Given the description of an element on the screen output the (x, y) to click on. 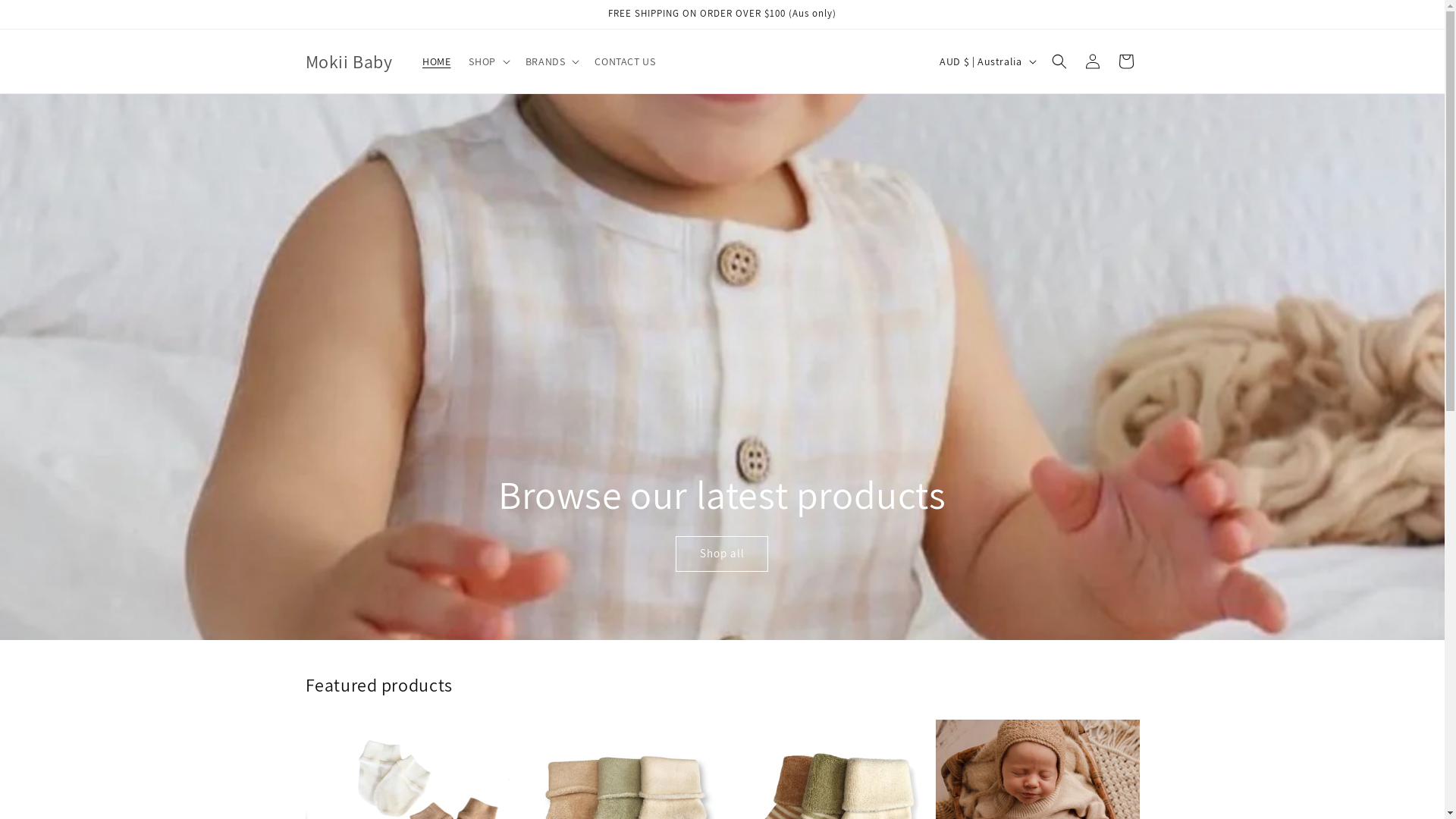
Log in Element type: text (1091, 61)
Shop all Element type: text (721, 553)
Mokii Baby Element type: text (348, 61)
Cart Element type: text (1125, 61)
CONTACT US Element type: text (624, 61)
AUD $ | Australia Element type: text (985, 61)
HOME Element type: text (436, 61)
